Given the description of an element on the screen output the (x, y) to click on. 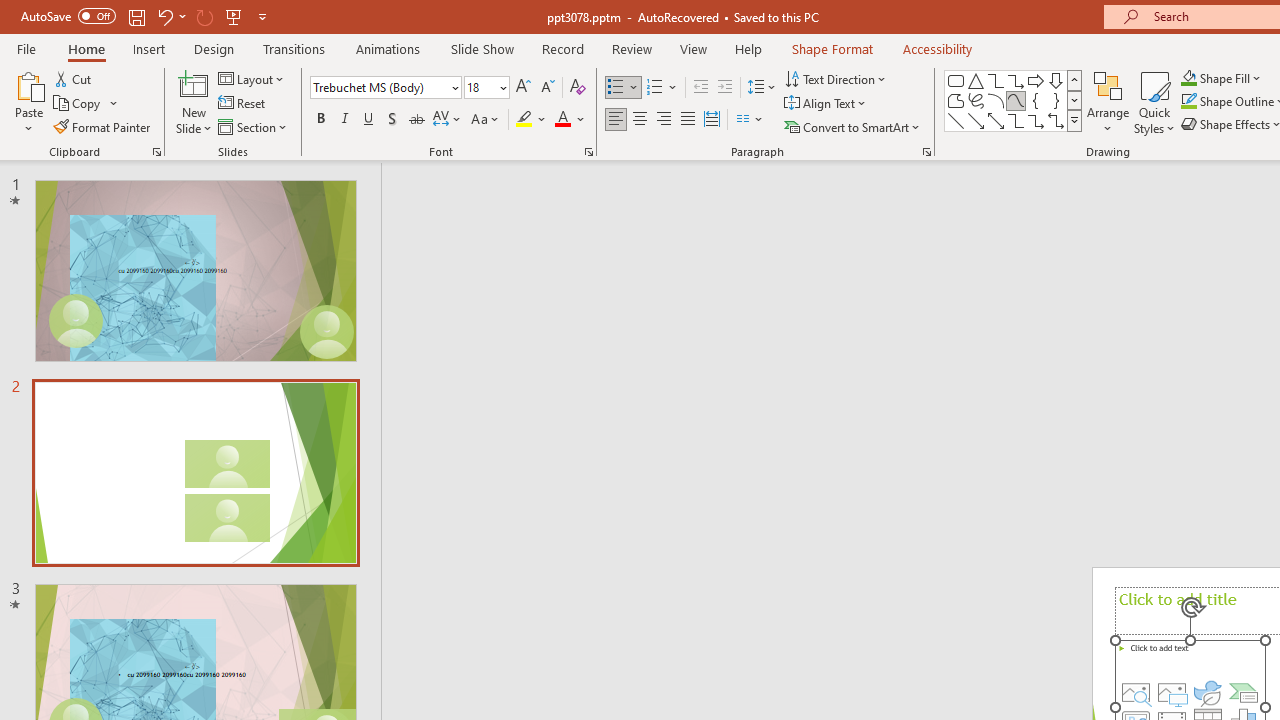
Line Arrow: Double (995, 120)
